Given the description of an element on the screen output the (x, y) to click on. 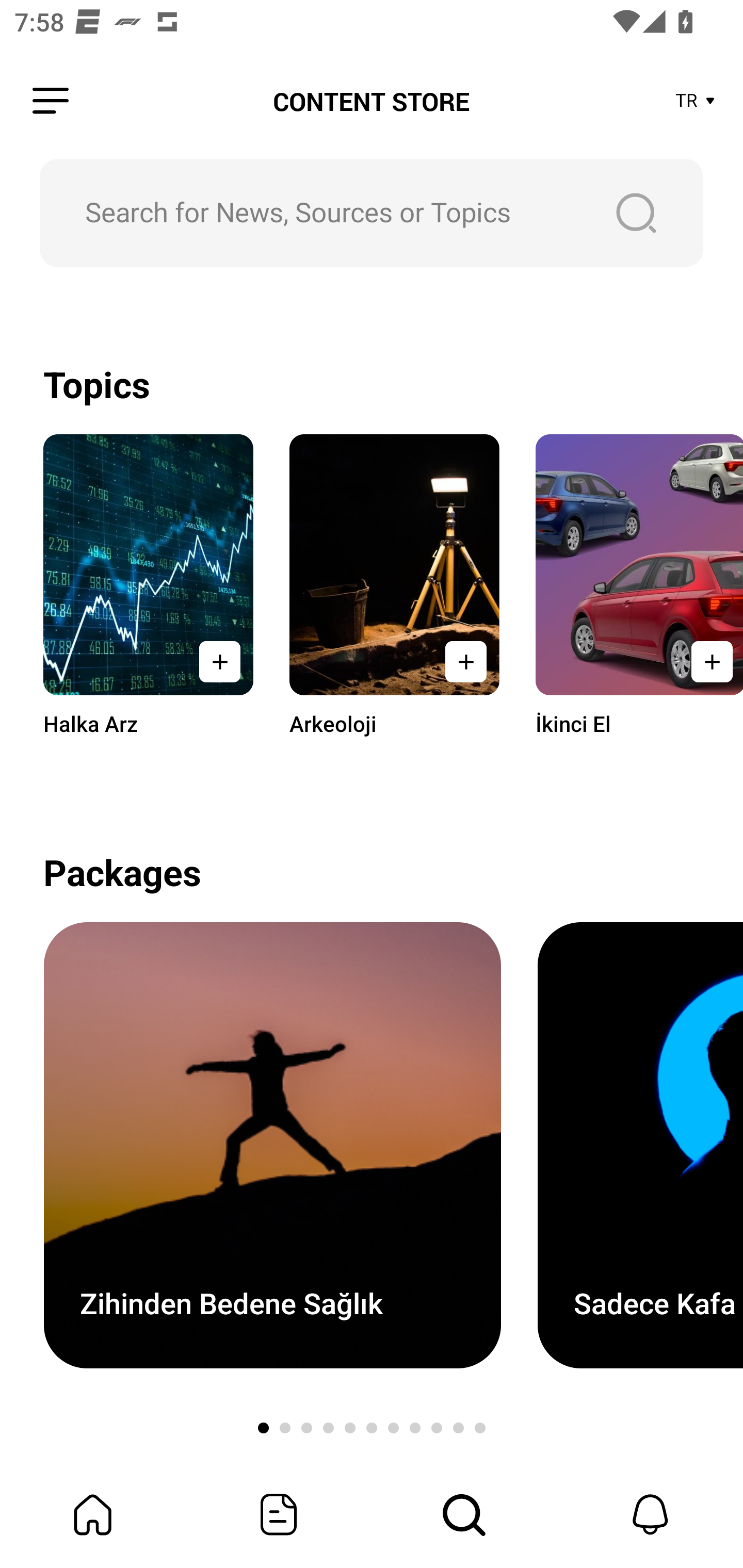
Leading Icon (50, 101)
TR Store Area (695, 101)
Search for News, Sources or Topics Search Button (371, 212)
Add To My Bundle (219, 661)
Add To My Bundle (465, 661)
Add To My Bundle (705, 661)
My Bundle (92, 1514)
Featured (278, 1514)
Notifications (650, 1514)
